Given the description of an element on the screen output the (x, y) to click on. 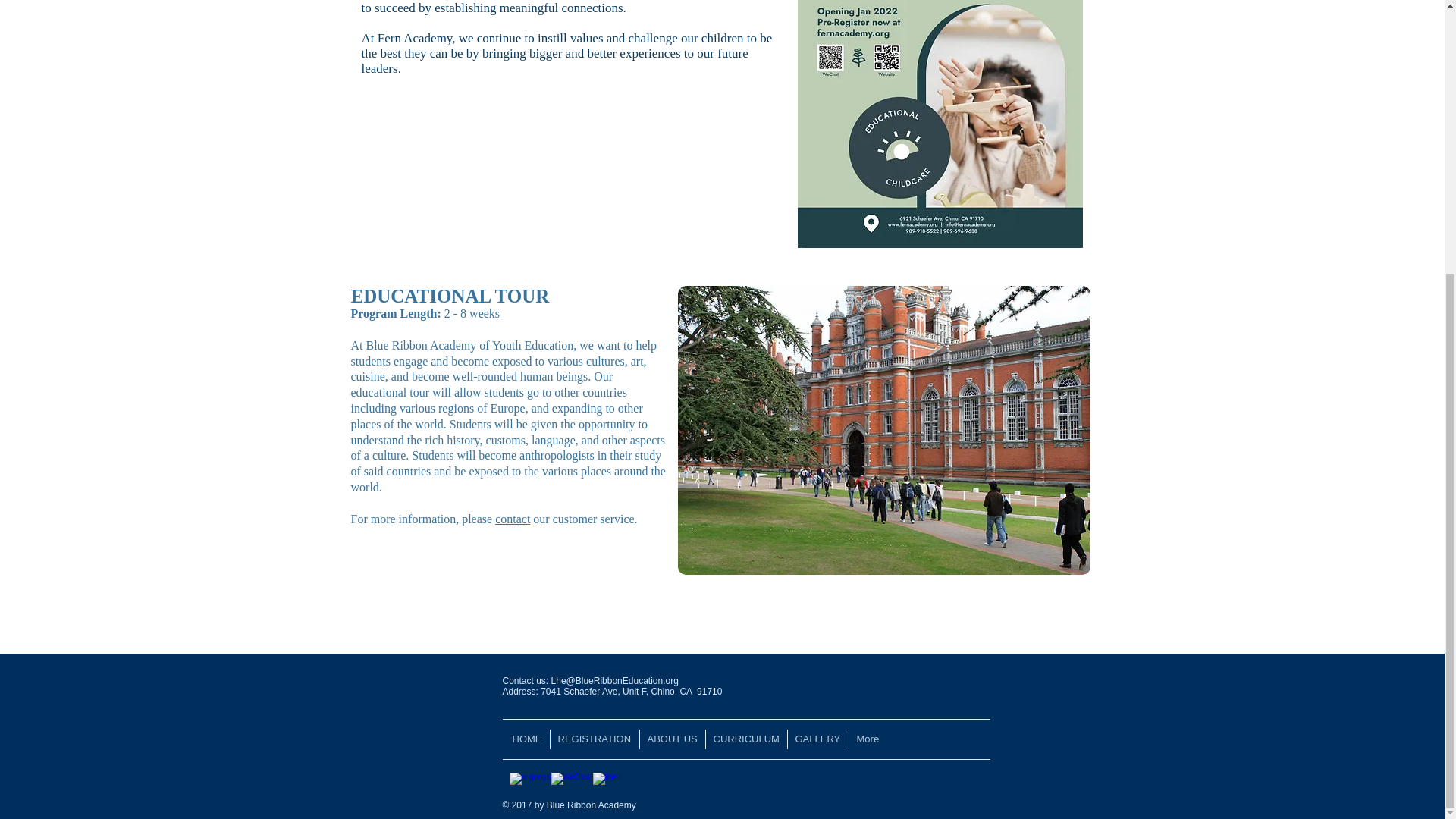
REGISTRATION (593, 739)
HOME (527, 739)
contact (512, 518)
